Given the description of an element on the screen output the (x, y) to click on. 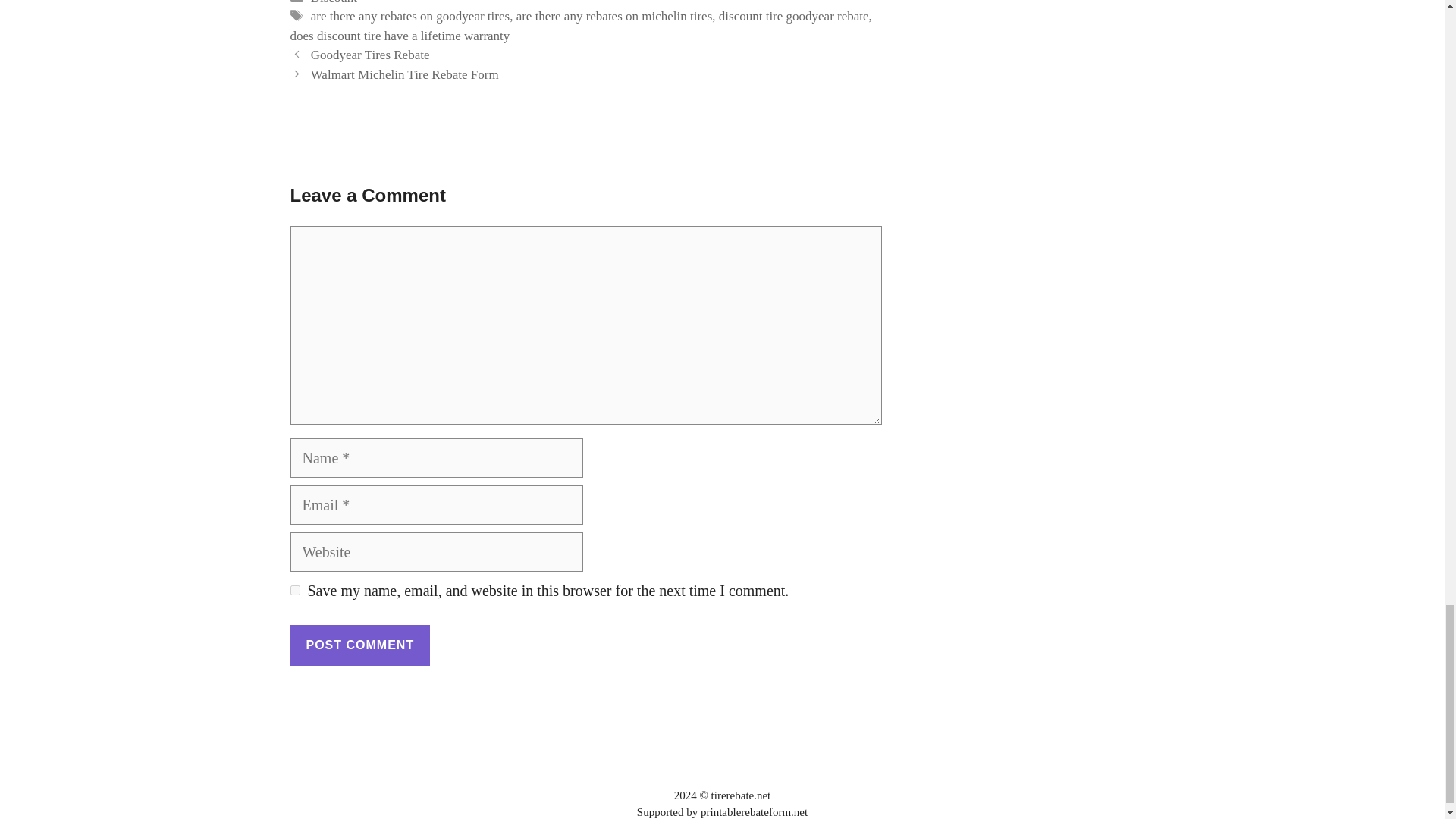
does discount tire have a lifetime warranty (399, 35)
Discount (333, 2)
yes (294, 590)
printablerebateform.net (754, 811)
discount tire goodyear rebate (794, 16)
Next (405, 74)
Walmart Michelin Tire Rebate Form (405, 74)
Goodyear Tires Rebate (370, 54)
are there any rebates on goodyear tires (410, 16)
Post Comment (359, 644)
